Given the description of an element on the screen output the (x, y) to click on. 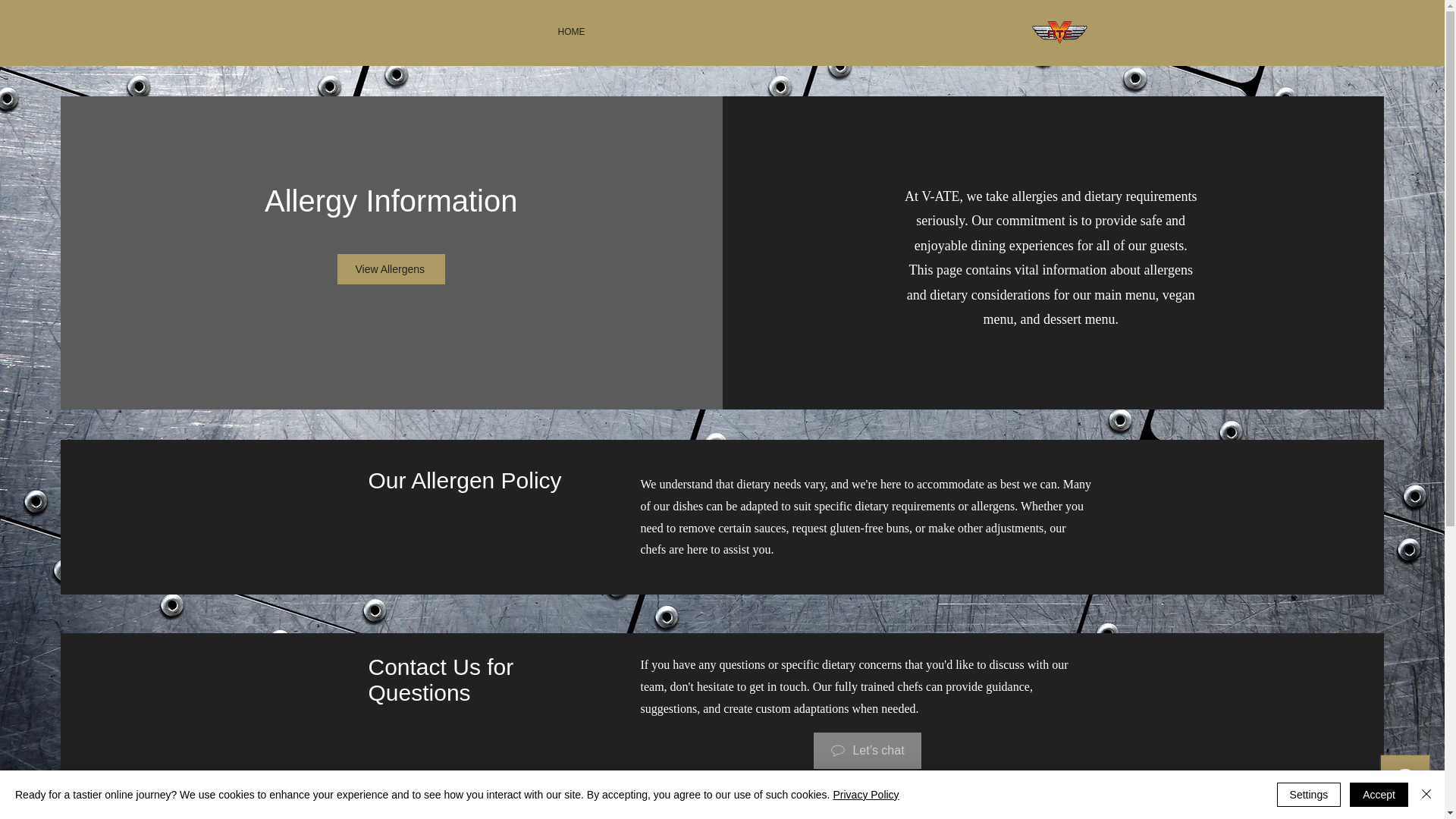
Settings (1308, 794)
Privacy Policy (865, 794)
Accept (1378, 794)
V-ATELOGO100.png (1058, 31)
View Allergens (391, 268)
HOME (571, 31)
